Given the description of an element on the screen output the (x, y) to click on. 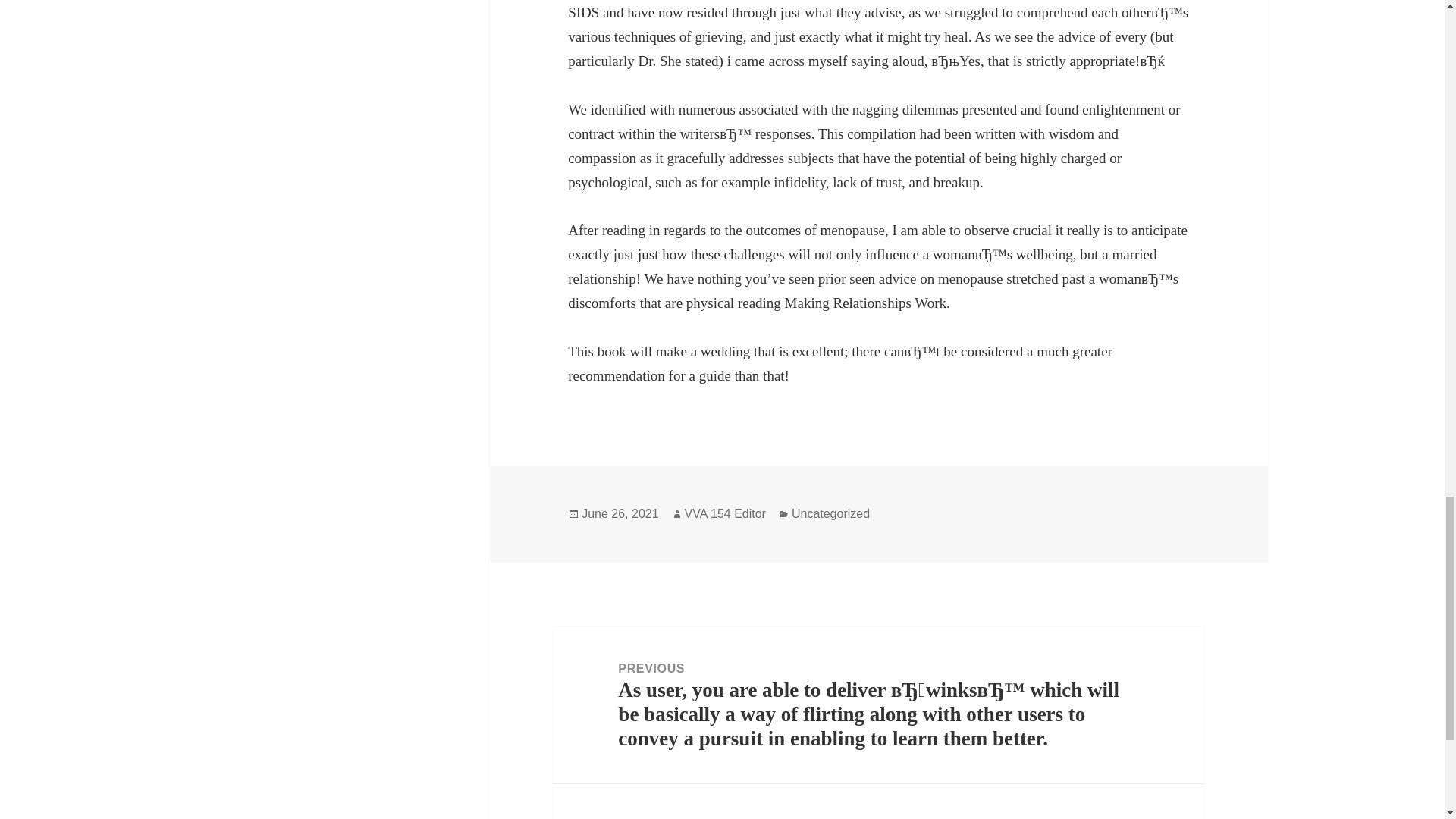
June 26, 2021 (619, 513)
VVA 154 Editor (724, 513)
